Given the description of an element on the screen output the (x, y) to click on. 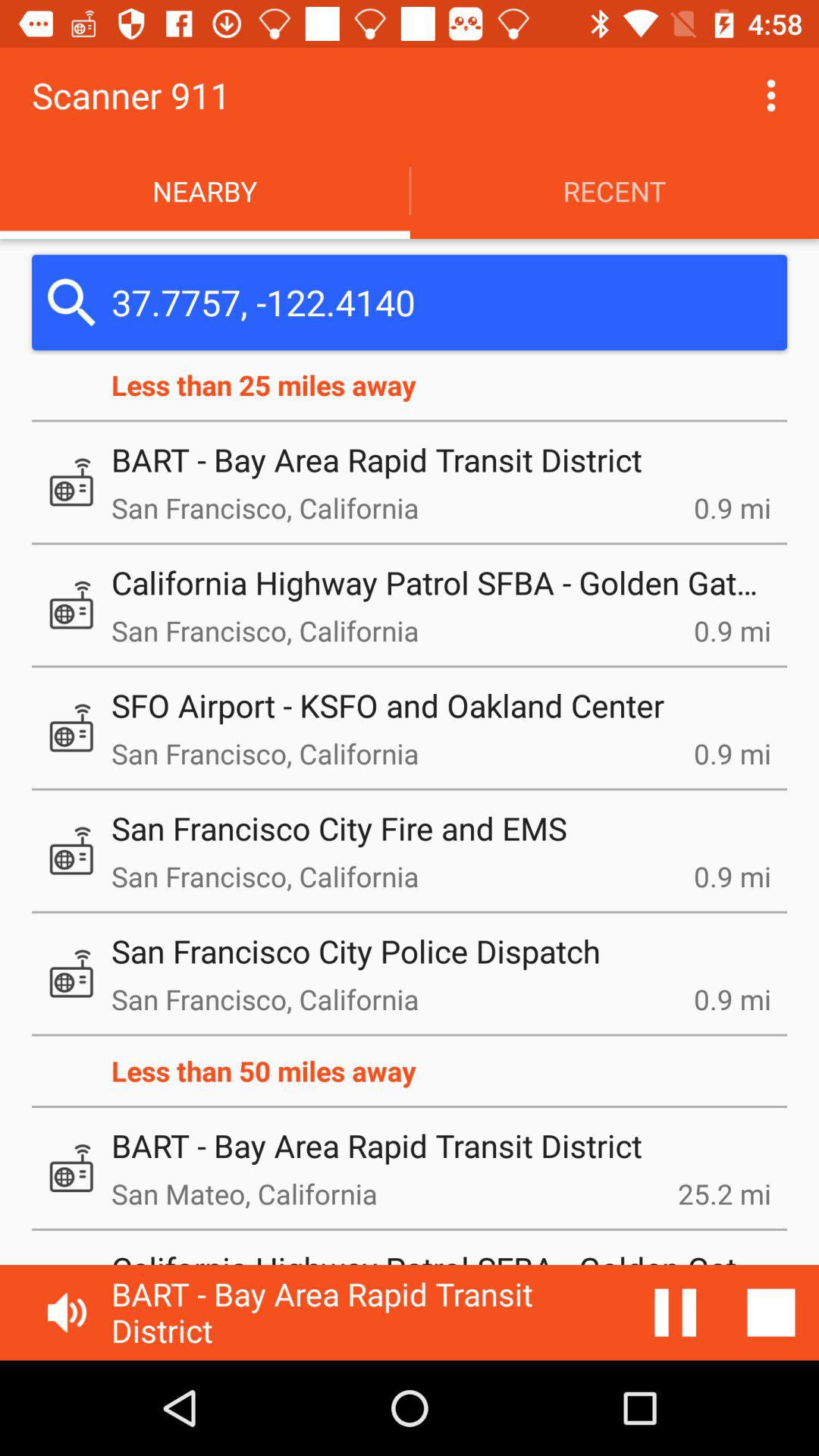
button to enter in the setting (771, 95)
